Given the description of an element on the screen output the (x, y) to click on. 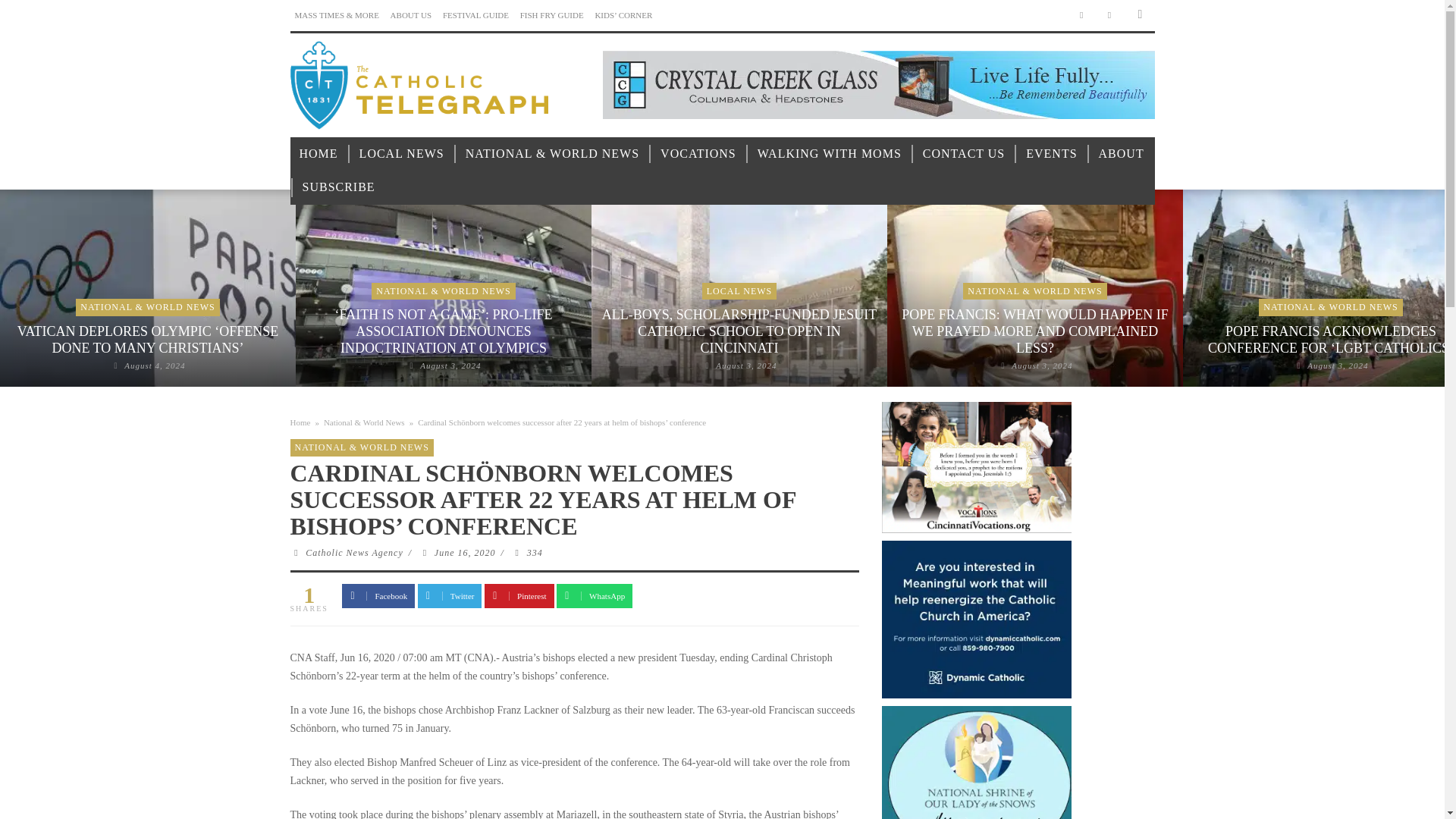
FESTIVAL GUIDE (475, 15)
WALKING WITH MOMS (829, 154)
EVENTS (1051, 154)
Facebook (1081, 15)
Walking with Moms (829, 154)
VOCATIONS (697, 154)
CONTACT US (963, 154)
LOCAL NEWS (401, 154)
SUBSCRIBE (338, 187)
